Given the description of an element on the screen output the (x, y) to click on. 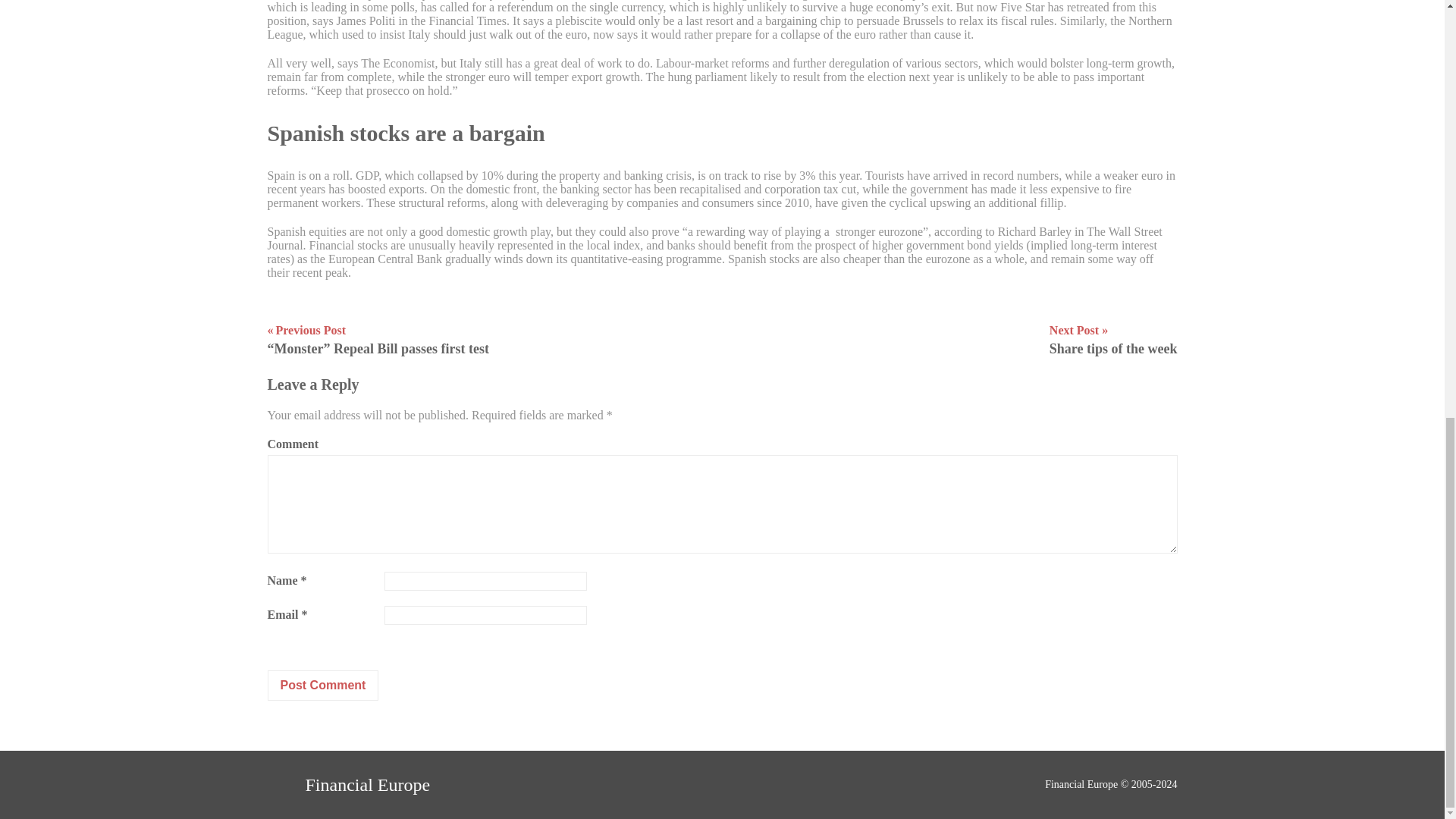
Financial Europe (1113, 340)
Post Comment (347, 784)
Post Comment (322, 685)
